Given the description of an element on the screen output the (x, y) to click on. 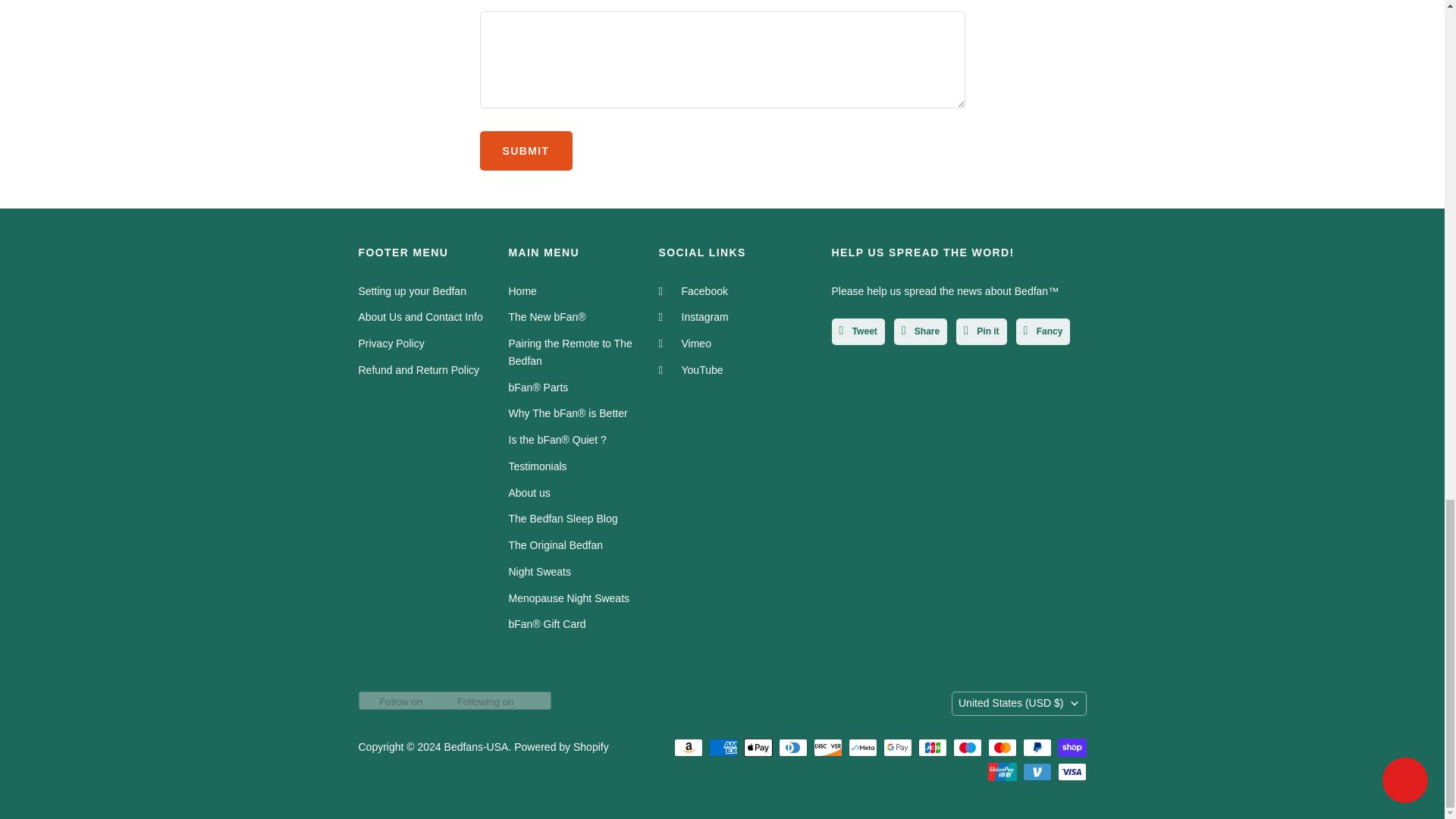
Refund and Return Policy (418, 369)
Home (521, 290)
Privacy Policy (390, 343)
Submit (525, 150)
Bedfans-USA on Facebook (692, 290)
About Us and Contact Info (419, 316)
Setting up your Bedfan (411, 290)
Bedfans-USA on YouTube (690, 369)
Bedfans-USA on Instagram (693, 316)
Pairing the Remote to The Bedfan (569, 351)
